Given the description of an element on the screen output the (x, y) to click on. 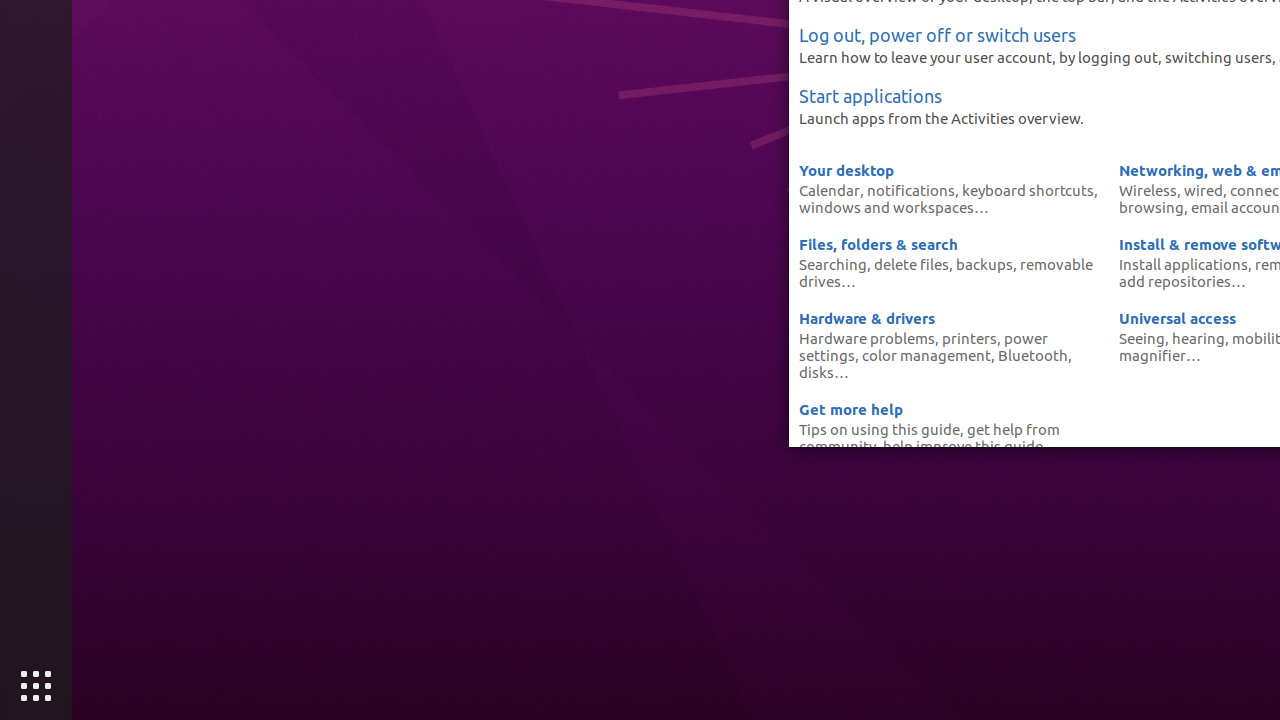
Seeing Element type: link (1142, 338)
Hardware problems Element type: link (867, 338)
windows and workspaces Element type: link (886, 207)
Install applications Element type: link (1183, 264)
